Given the description of an element on the screen output the (x, y) to click on. 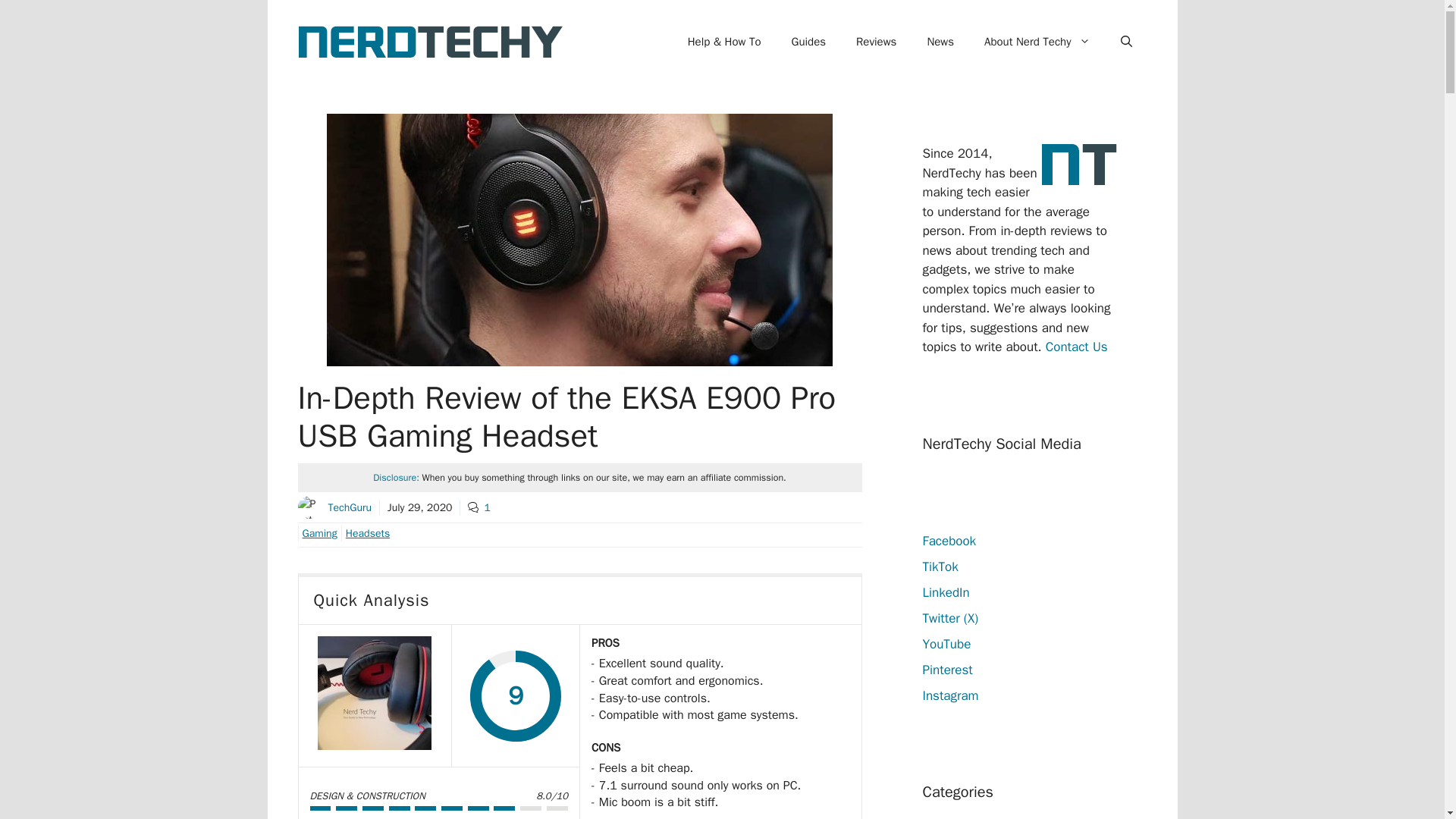
Gaming (316, 533)
Quick Analysis (373, 695)
TechGuru (349, 507)
Headsets (365, 533)
News (940, 41)
About Nerd Techy (1037, 41)
Disclosure: (395, 477)
Reviews (876, 41)
Guides (808, 41)
